Given the description of an element on the screen output the (x, y) to click on. 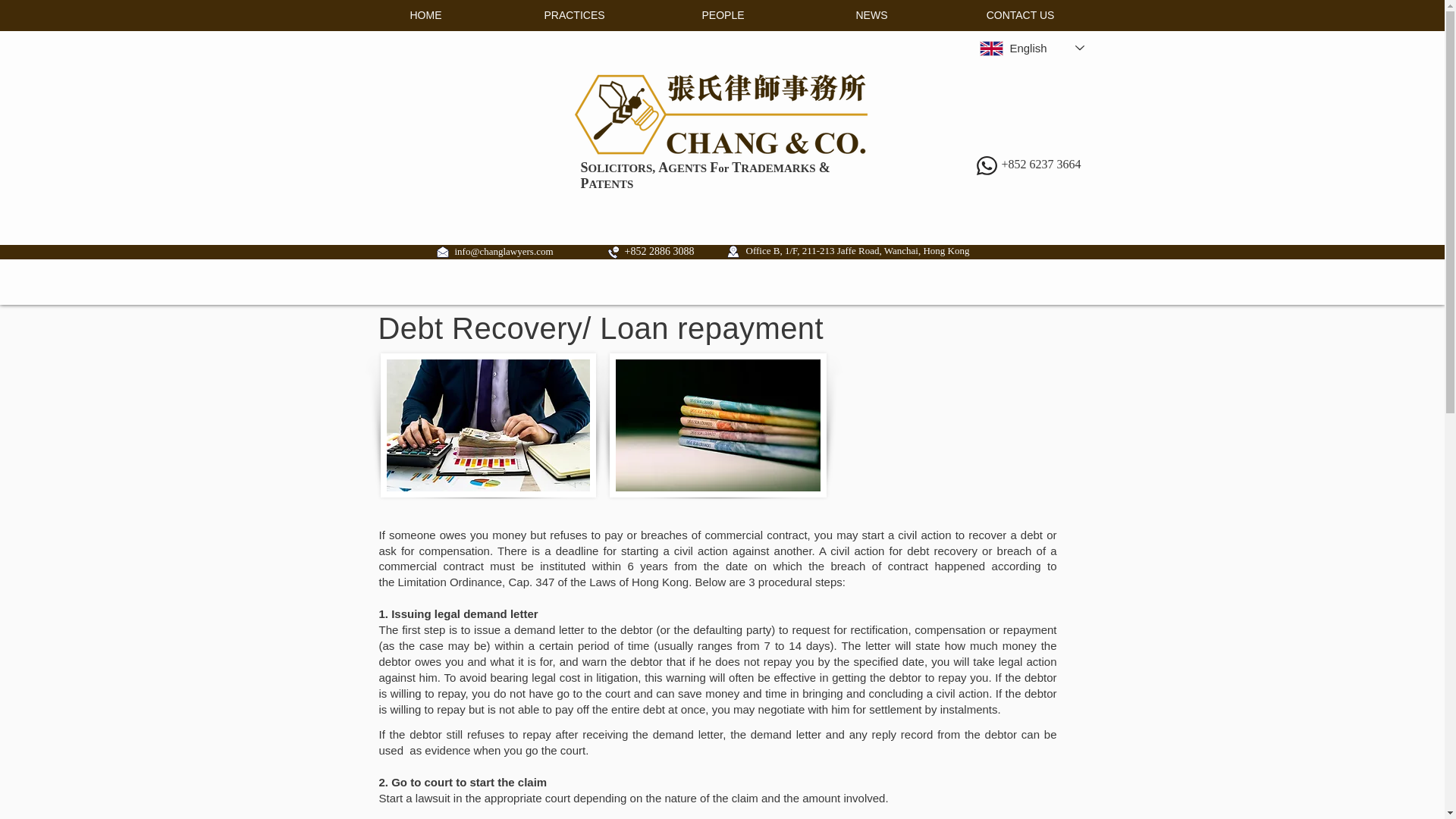
PRACTICES (574, 15)
PEOPLE (723, 15)
CONTACT US (1020, 15)
NEWS (871, 15)
HOME (426, 15)
